Given the description of an element on the screen output the (x, y) to click on. 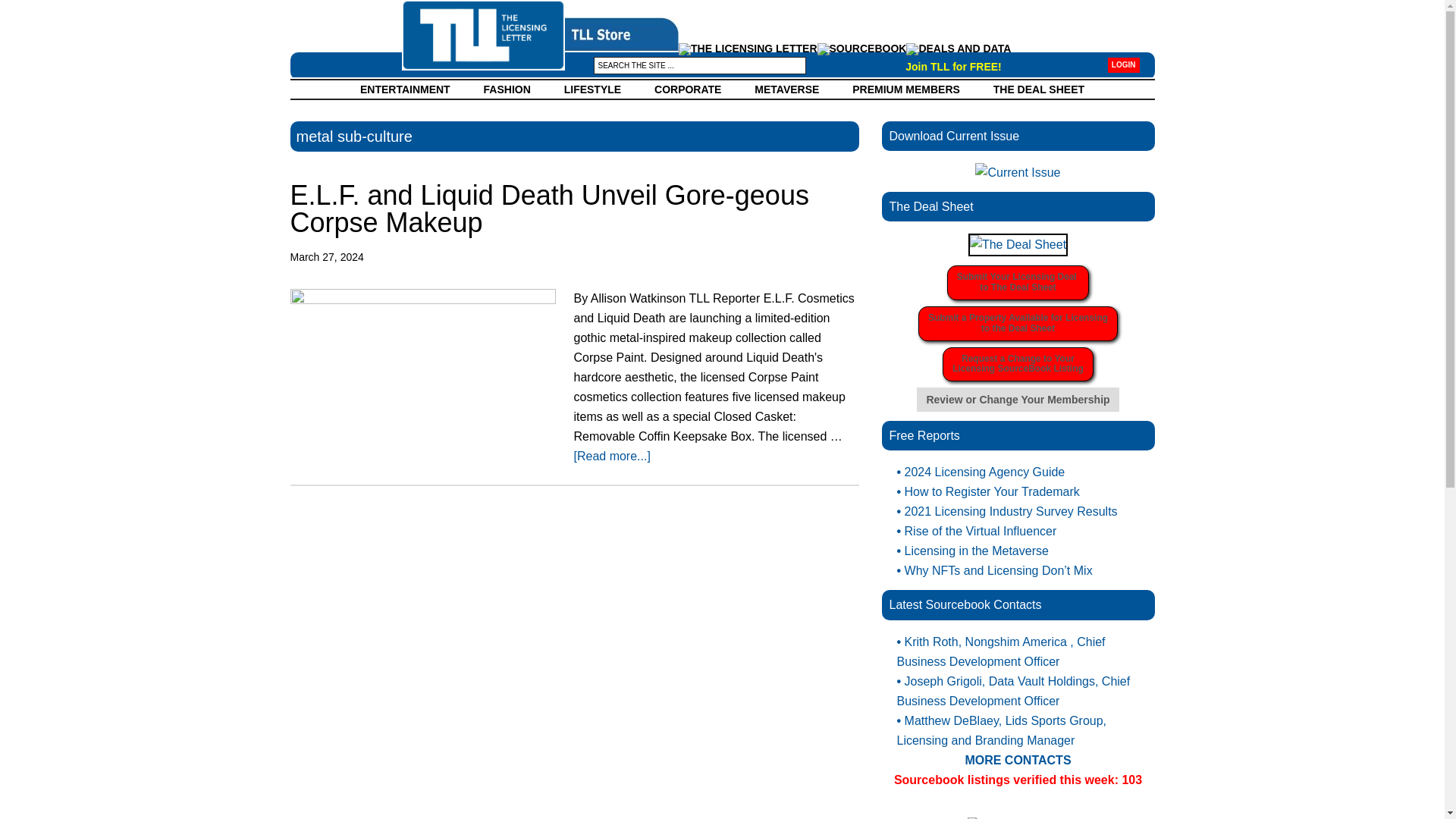
Search (106, 10)
MORE CONTACTS (1018, 323)
Join TLL for FREE! (1018, 282)
LOGIN (1016, 759)
Skip to main content (953, 66)
E.L.F. and Liquid Death Unveil Gore-geous Corpse Makeup (1018, 282)
LIFESTYLE (1123, 64)
THE DEAL SHEET (548, 208)
ENTERTAINMENT (592, 89)
